Given the description of an element on the screen output the (x, y) to click on. 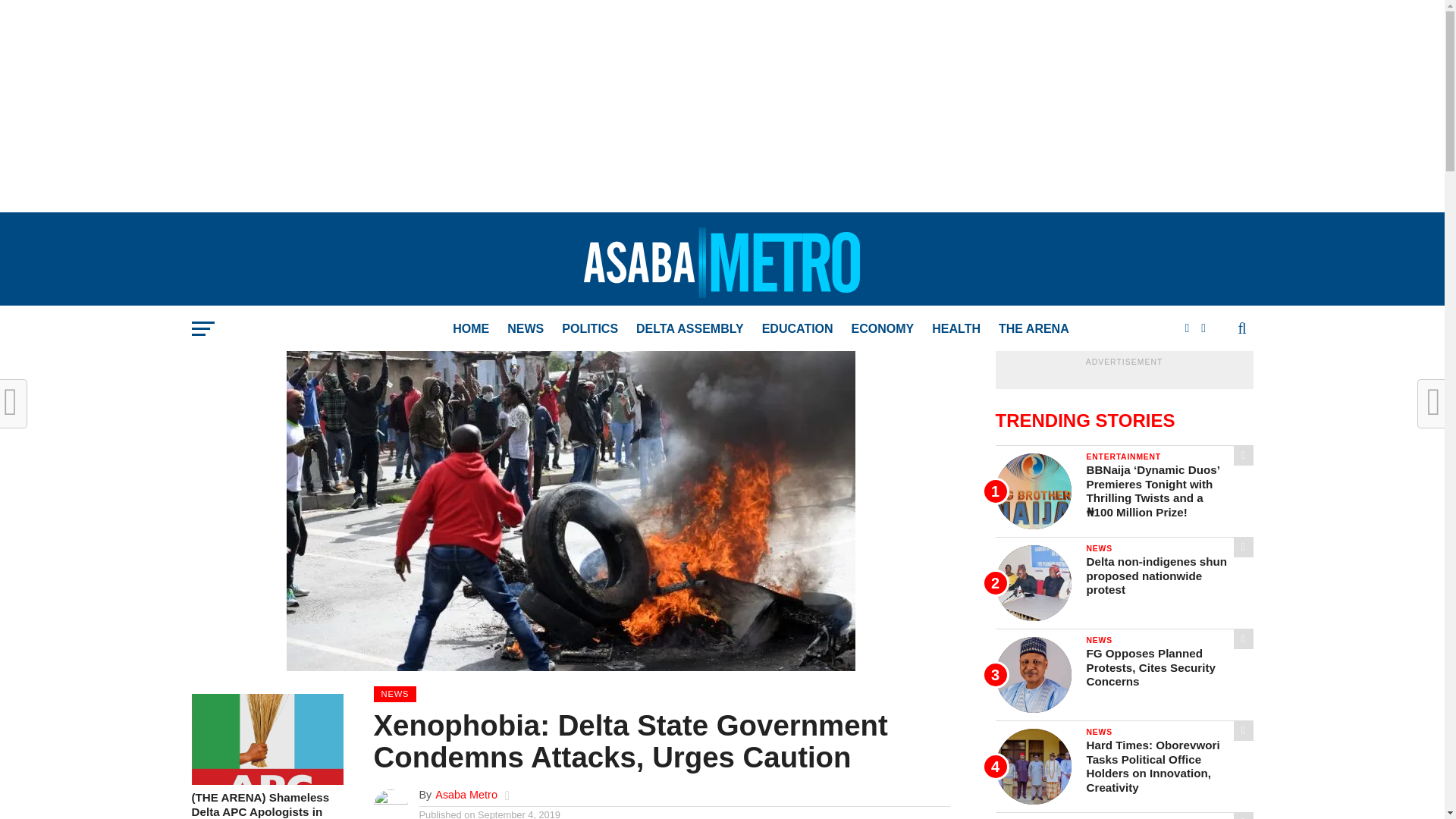
EDUCATION (797, 328)
THE ARENA (1034, 328)
DELTA ASSEMBLY (689, 328)
NEWS (525, 328)
HEALTH (956, 328)
POLITICS (590, 328)
Posts by Asaba Metro (466, 794)
ECONOMY (883, 328)
HOME (470, 328)
